Given the description of an element on the screen output the (x, y) to click on. 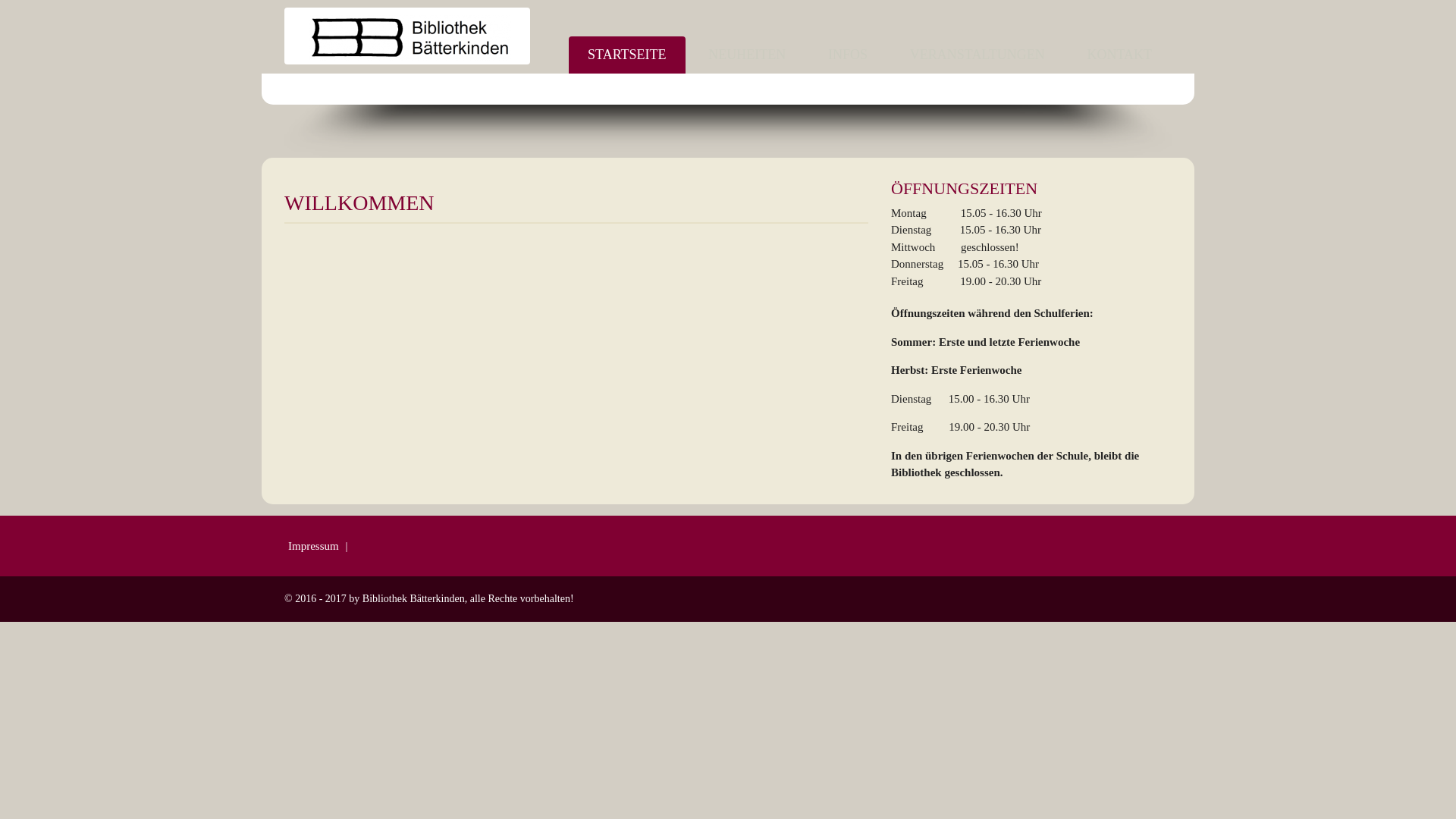
STARTSEITE Element type: text (626, 54)
Impressum Element type: text (314, 545)
VERANSTALTUNGEN Element type: text (977, 54)
KONTAKT Element type: text (1119, 54)
NEUHEITEN Element type: text (746, 54)
INFOS Element type: text (847, 54)
